Given the description of an element on the screen output the (x, y) to click on. 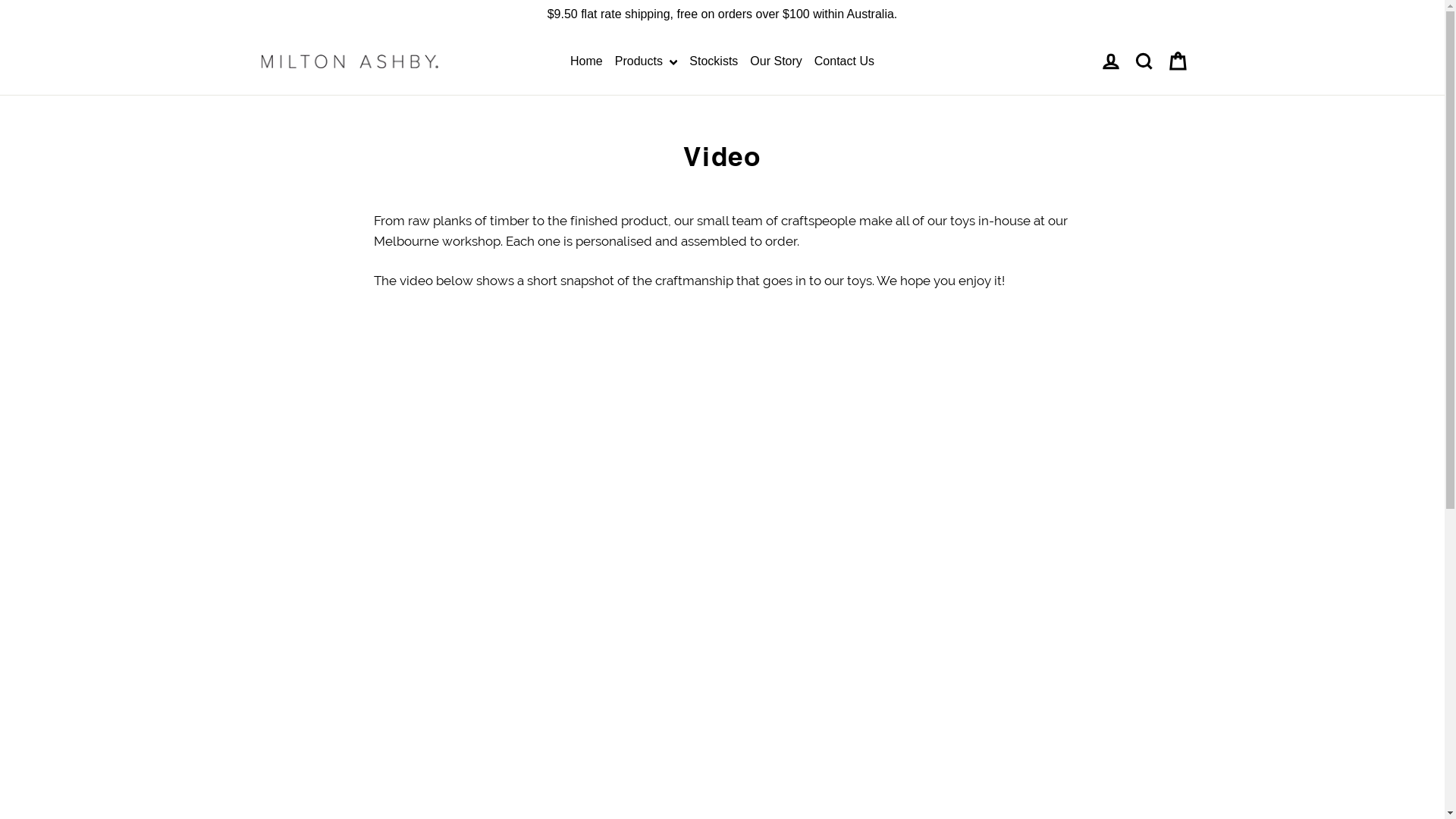
Contact Us Element type: text (844, 60)
Skip to content Element type: text (0, 0)
Our Story Element type: text (775, 60)
Log in Element type: text (1109, 61)
Search Element type: text (1143, 61)
Products Element type: text (646, 60)
Home Element type: text (586, 60)
Stockists Element type: text (713, 60)
Cart Element type: text (1176, 61)
